Given the description of an element on the screen output the (x, y) to click on. 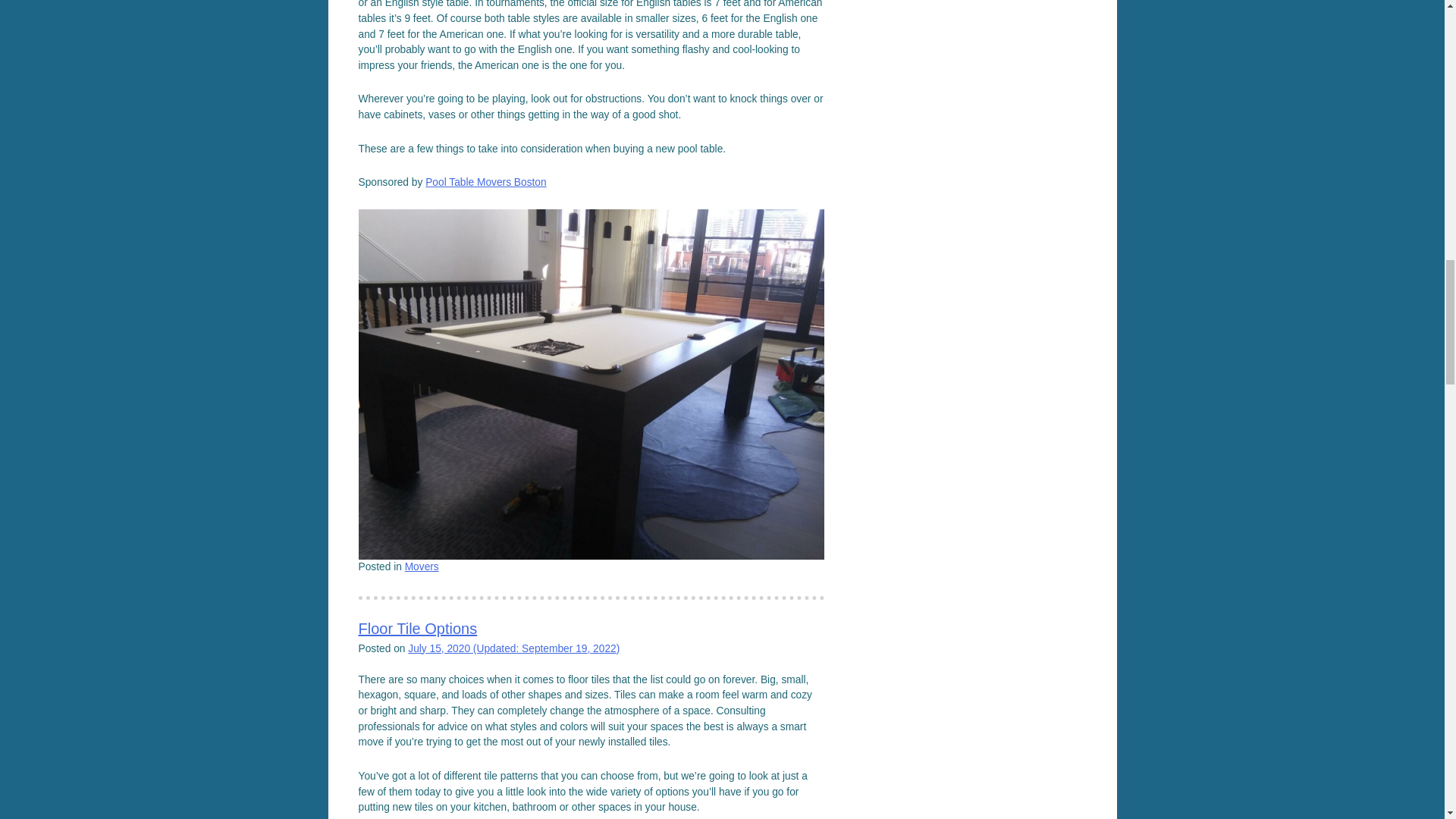
Pool Table Movers Boston (486, 182)
Floor Tile Options (417, 628)
Movers (421, 566)
